Given the description of an element on the screen output the (x, y) to click on. 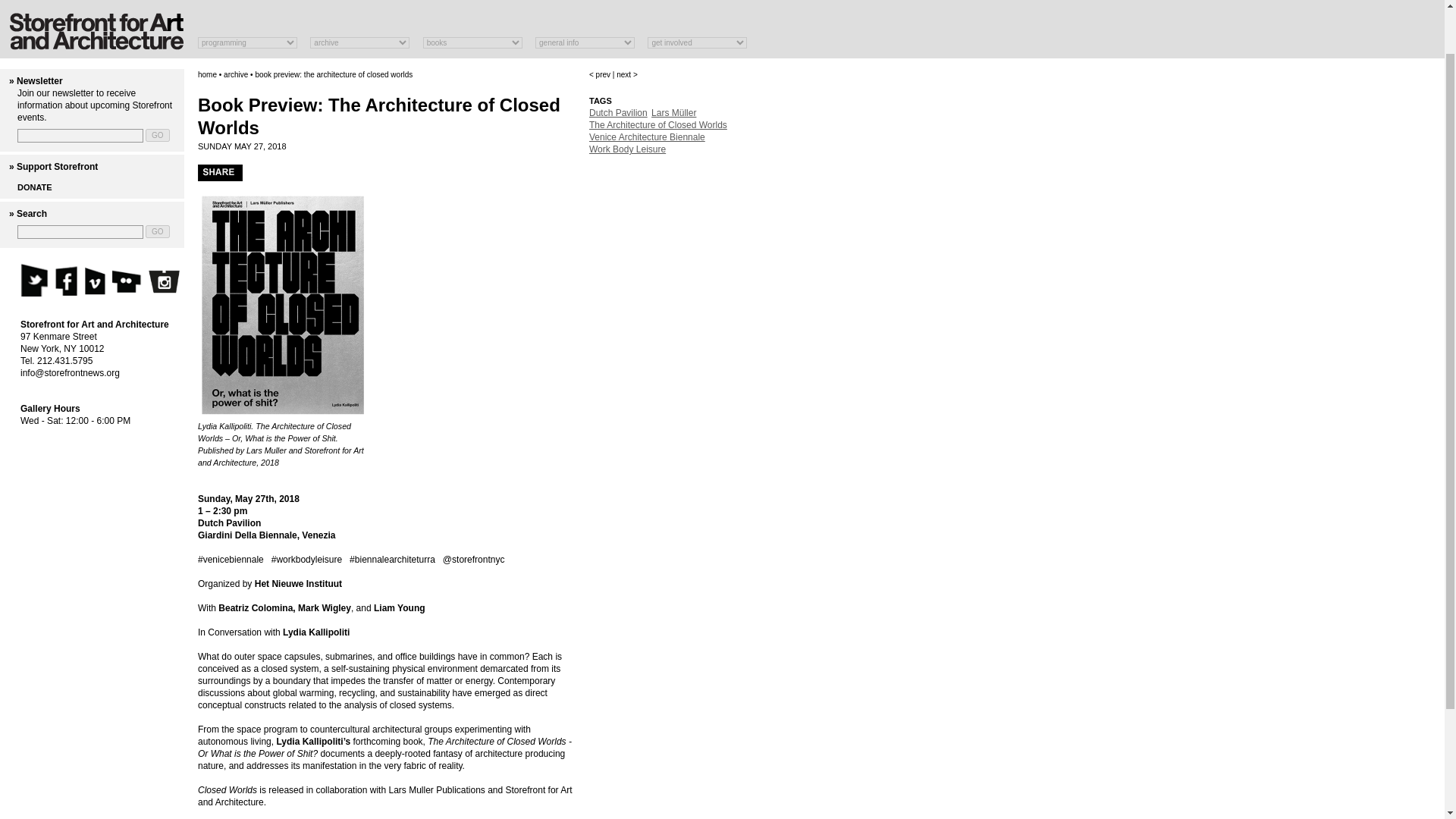
GO (157, 134)
The Architecture of Closed Worlds (657, 124)
Dutch Pavilion (618, 112)
Follow us on Twitter (33, 279)
Support Storefront (56, 166)
Work Body Leisure (627, 149)
GO (157, 231)
home (207, 74)
Venice Architecture Biennale (646, 136)
DONATE (34, 186)
archive (235, 74)
GO (157, 231)
GO (157, 134)
See our Instagram (164, 283)
See our Flickr photostream (128, 279)
